Given the description of an element on the screen output the (x, y) to click on. 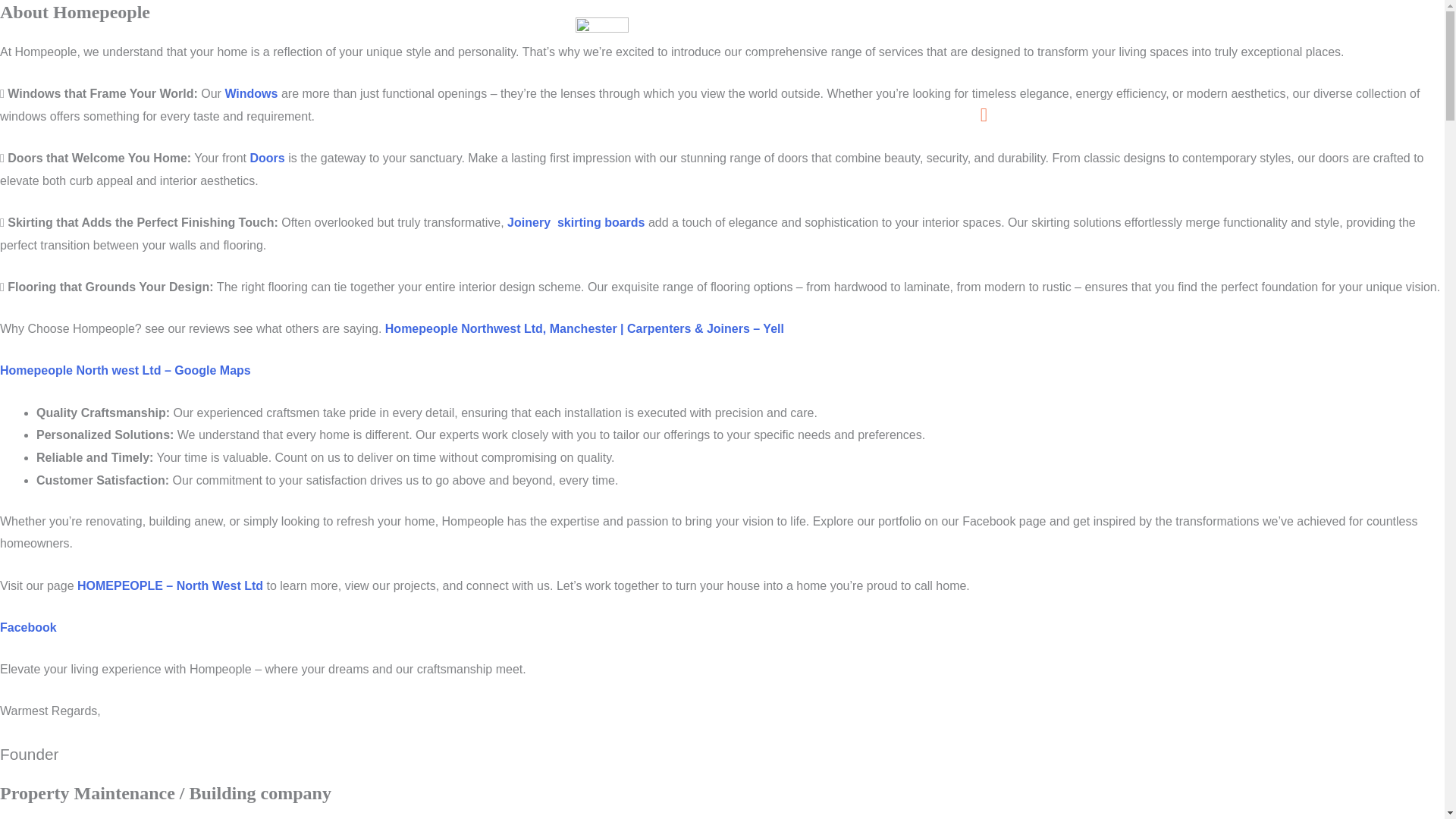
About (796, 117)
Garden Office (643, 117)
Windows (252, 92)
Windows (472, 117)
Home (395, 117)
HOMEPEOPLE (754, 31)
Reviews (861, 117)
Contact (933, 117)
Gallery (734, 117)
Doors (551, 117)
